Given the description of an element on the screen output the (x, y) to click on. 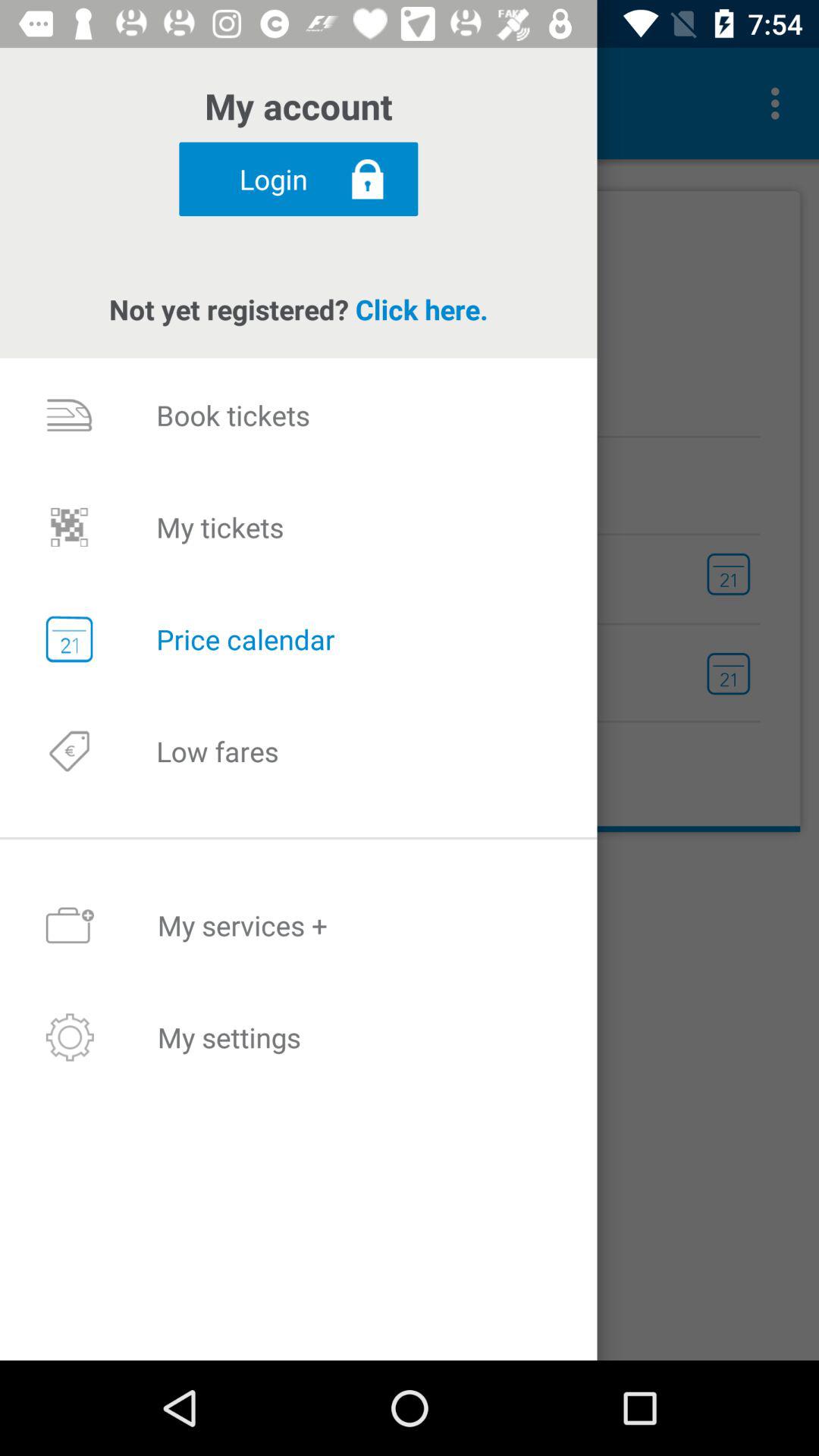
click on login (298, 178)
choose menu button (779, 103)
